Given the description of an element on the screen output the (x, y) to click on. 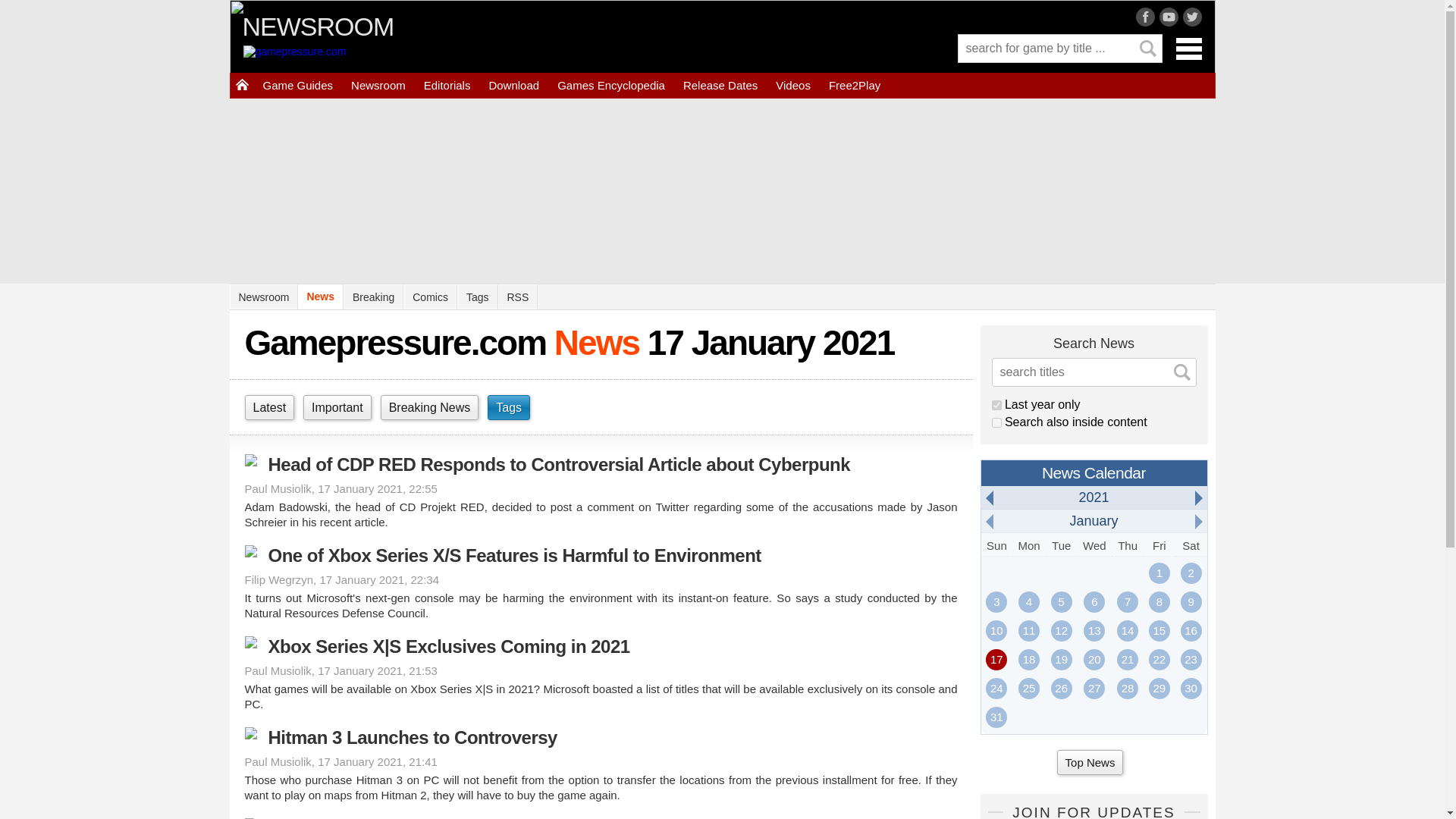
Breaking (373, 296)
Games Encyclopedia (611, 85)
Editorials (447, 85)
Download (513, 85)
1 (996, 422)
Newsroom (378, 85)
Hitman 3 Launches to Controversy (600, 737)
gamepressure.com (331, 55)
Newsroom (263, 296)
